Given the description of an element on the screen output the (x, y) to click on. 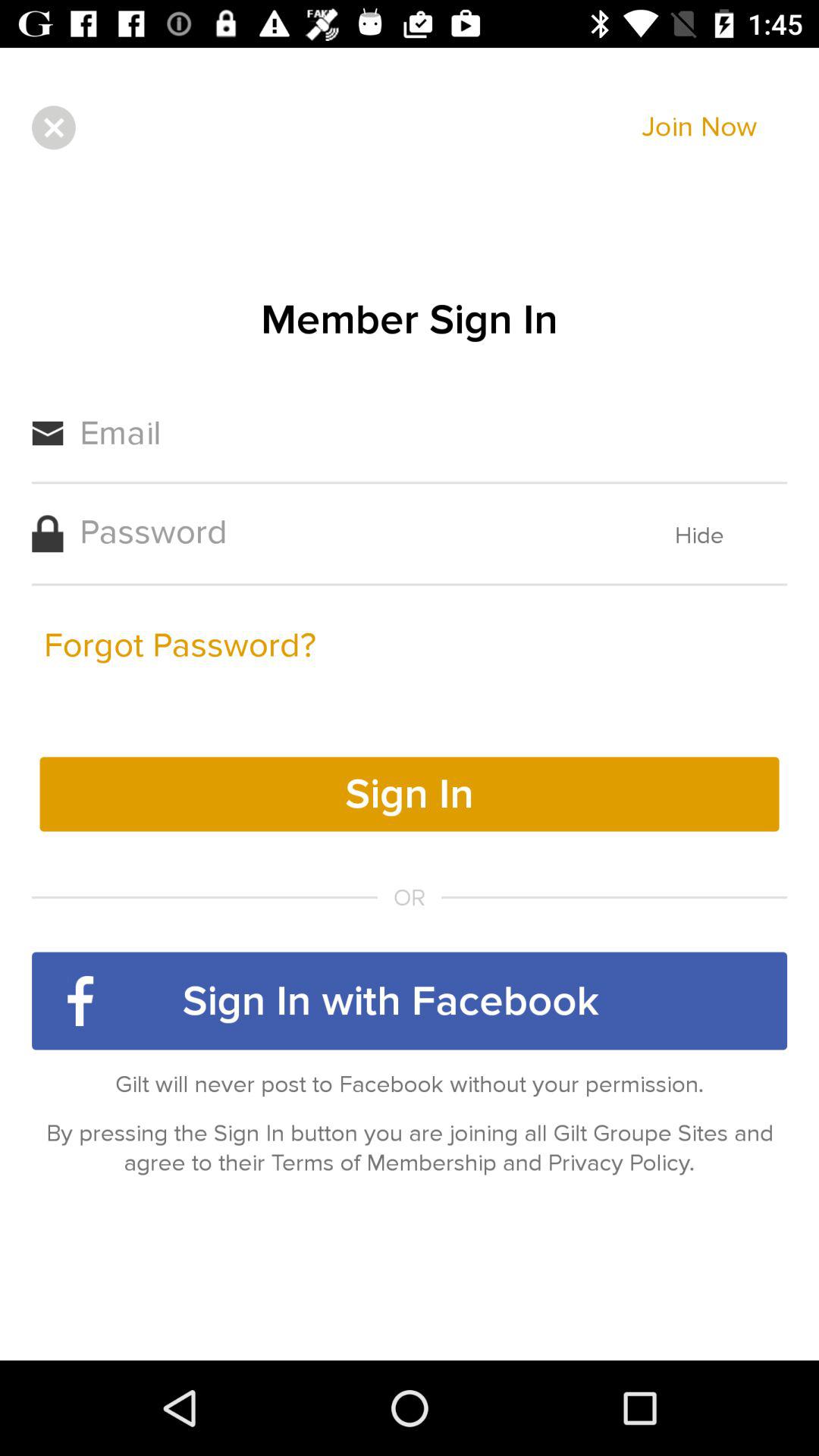
turn on the icon above sign in (179, 645)
